Given the description of an element on the screen output the (x, y) to click on. 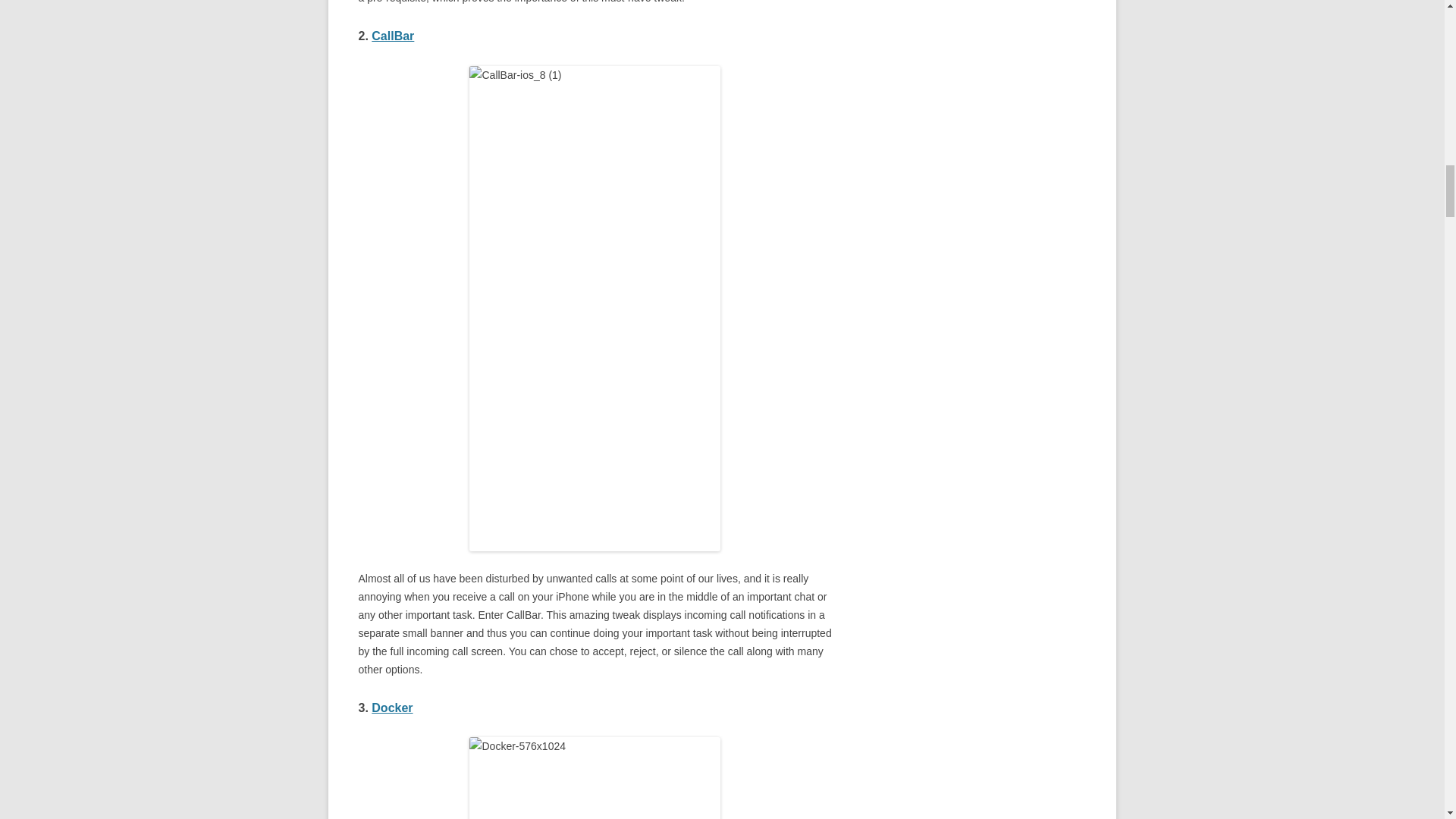
CallBar (392, 35)
Docker (391, 707)
